Given the description of an element on the screen output the (x, y) to click on. 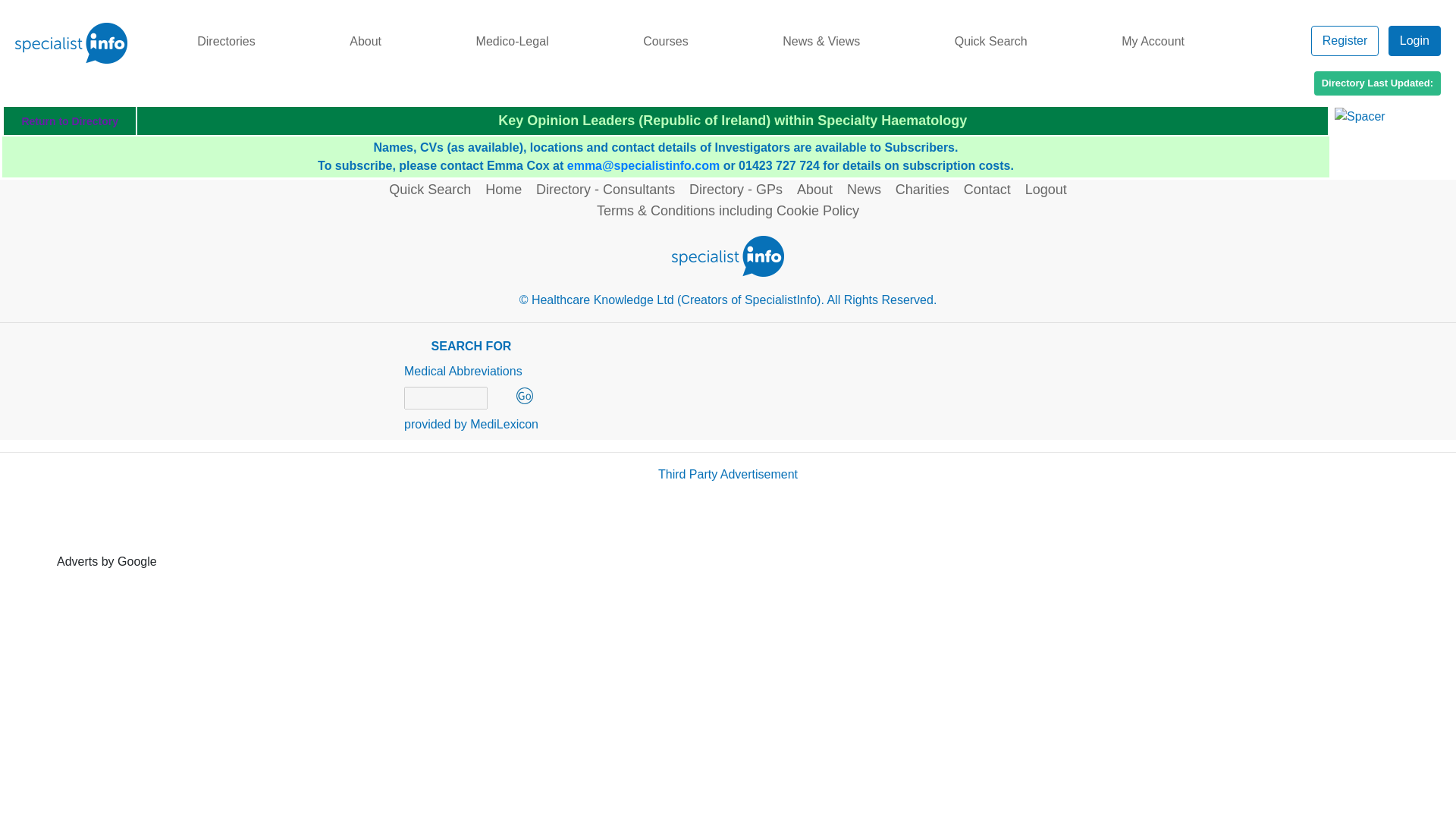
Register (1348, 40)
Login (1415, 40)
Courses (665, 41)
My Account (1152, 41)
Register (1344, 40)
Medico-Legal (511, 41)
Login (1415, 40)
About (365, 41)
Login Details (1415, 40)
Quick Search (990, 41)
Register (1348, 40)
Directories (225, 41)
